Given the description of an element on the screen output the (x, y) to click on. 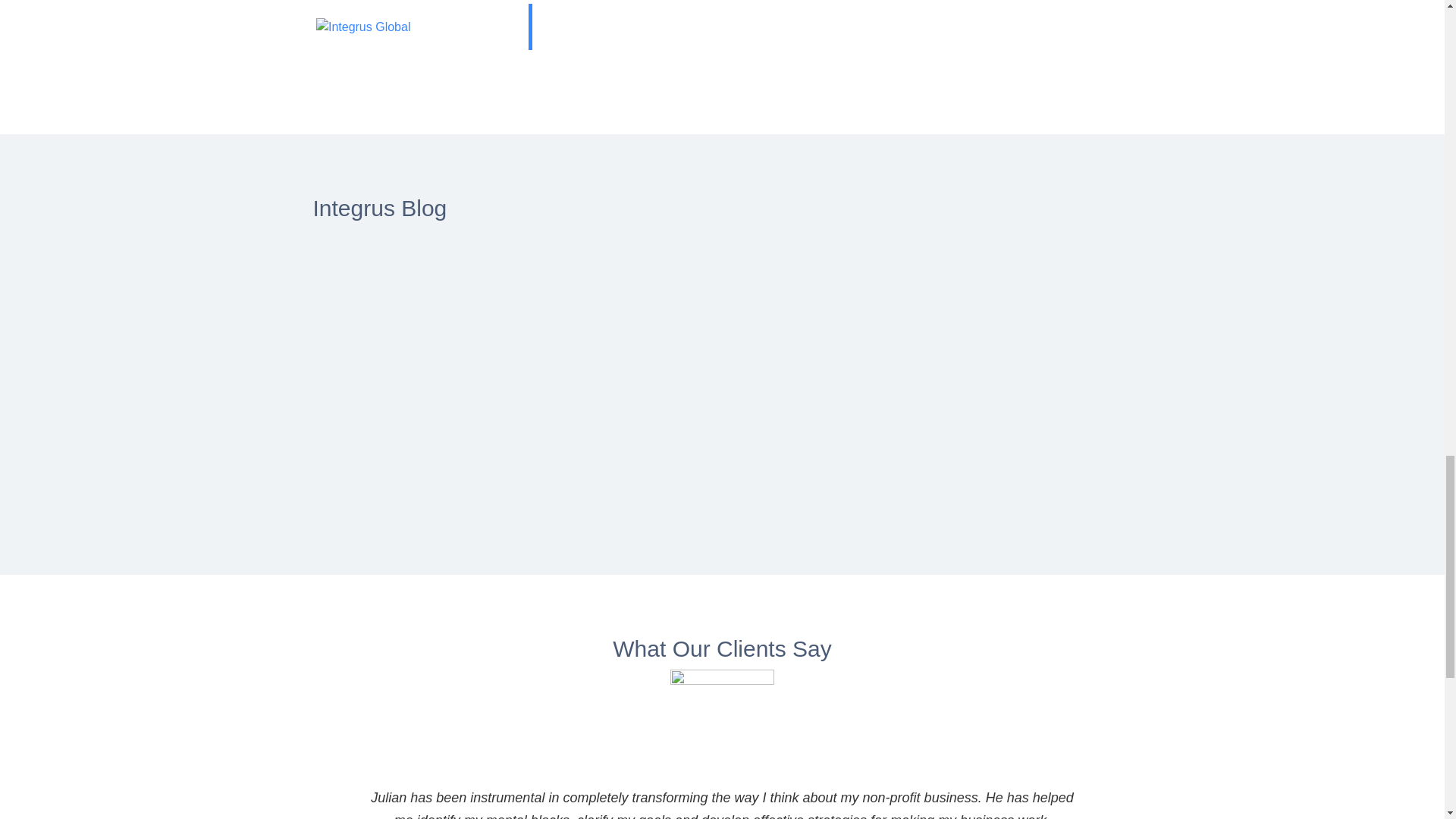
red-quote (397, 23)
